Given the description of an element on the screen output the (x, y) to click on. 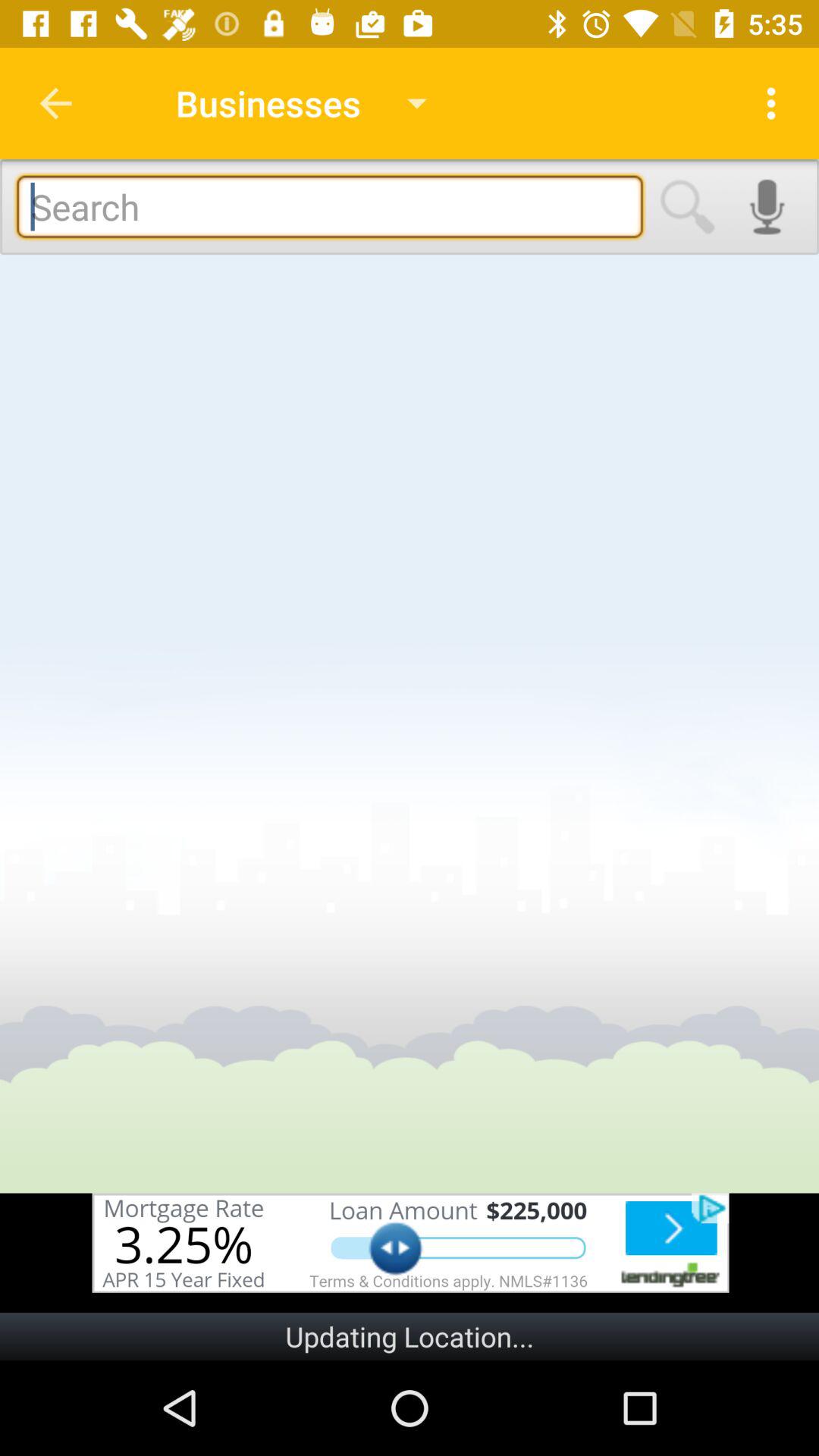
text in search (329, 206)
